Given the description of an element on the screen output the (x, y) to click on. 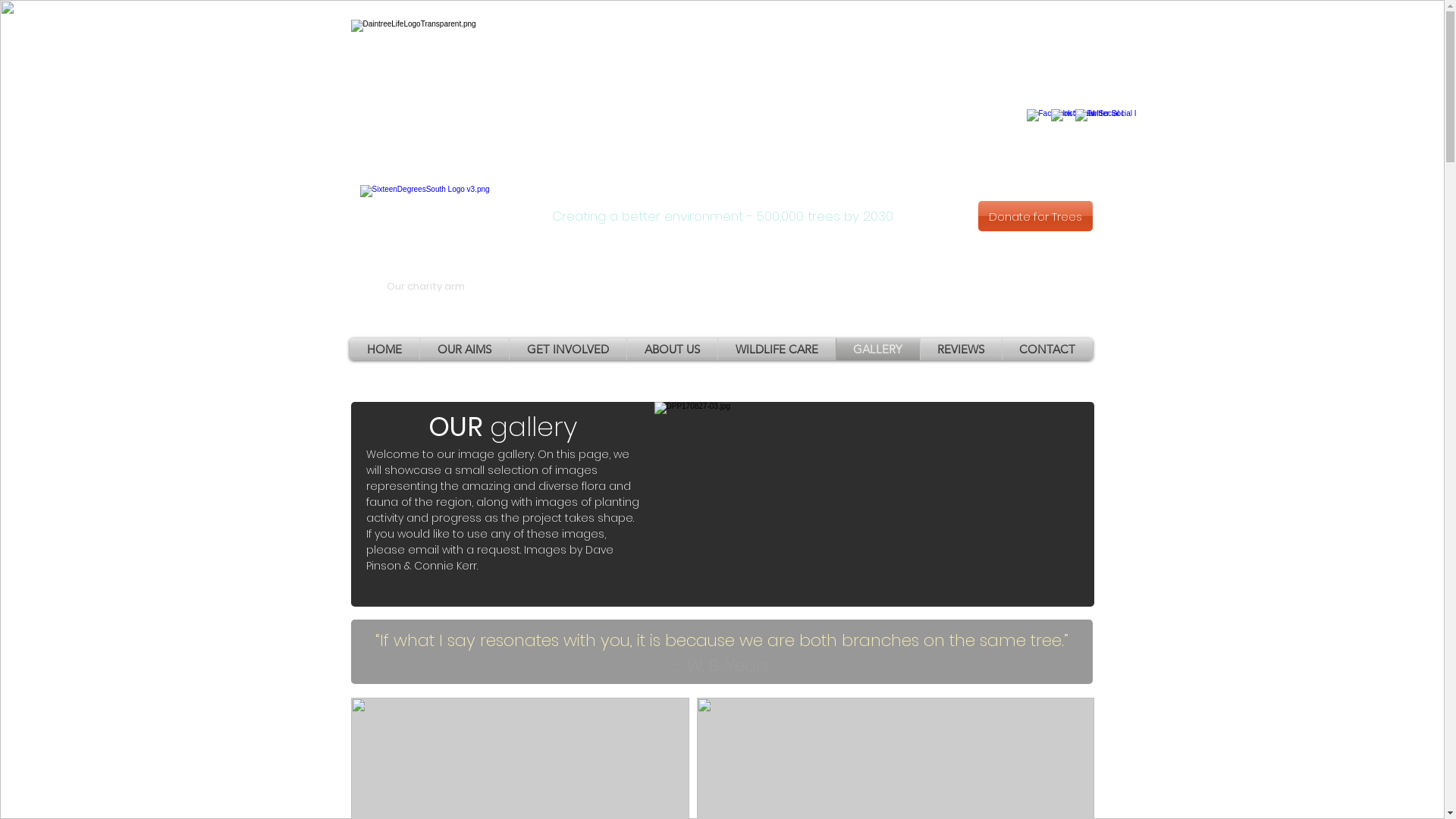
Facebook Like Element type: hover (1073, 44)
DAINTREE LIFE Element type: text (722, 117)
GALLERY Element type: text (877, 349)
HOME Element type: text (383, 349)
CONTACT Element type: text (1047, 349)
GET INVOLVED Element type: text (567, 349)
WILDLIFE CARE Element type: text (775, 349)
REVIEWS Element type: text (960, 349)
ABOUT US Element type: text (671, 349)
OUR AIMS Element type: text (464, 349)
Donate for Trees Element type: text (1035, 215)
